Given the description of an element on the screen output the (x, y) to click on. 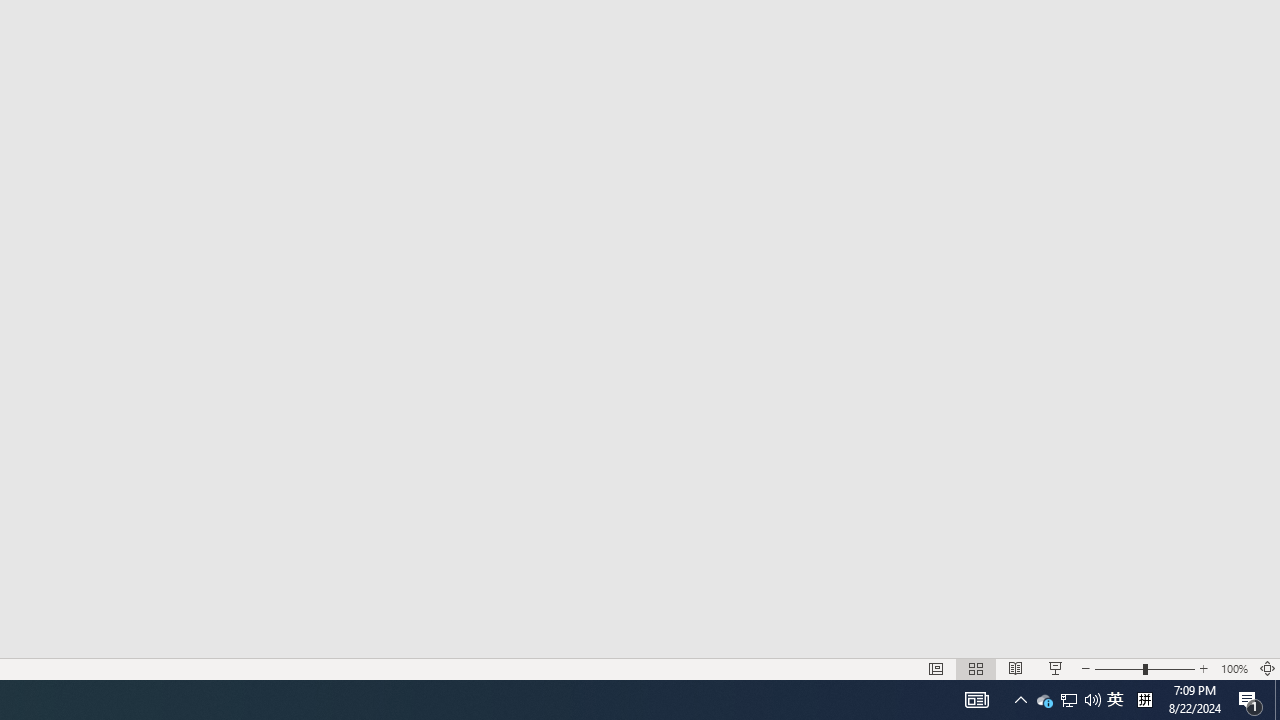
Zoom 100% (1234, 668)
